Given the description of an element on the screen output the (x, y) to click on. 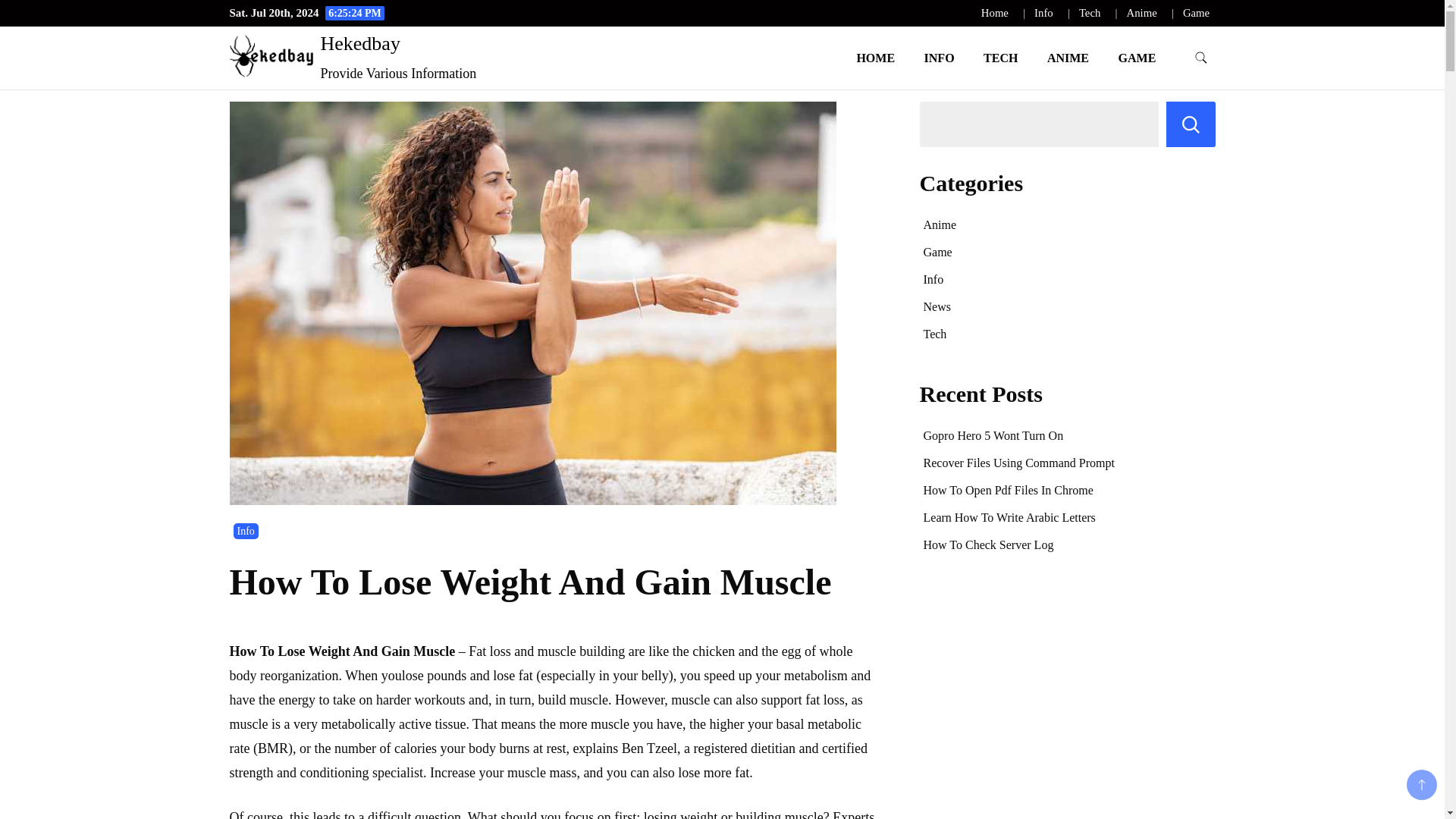
GAME (1137, 57)
Anime (1141, 12)
Home (995, 12)
Anime (939, 224)
HOME (875, 57)
ANIME (1067, 57)
Game (1195, 12)
Tech (1089, 12)
TECH (1000, 57)
Hekedbay (359, 43)
Search (1190, 124)
INFO (939, 57)
Info (1042, 12)
Info (245, 530)
